Given the description of an element on the screen output the (x, y) to click on. 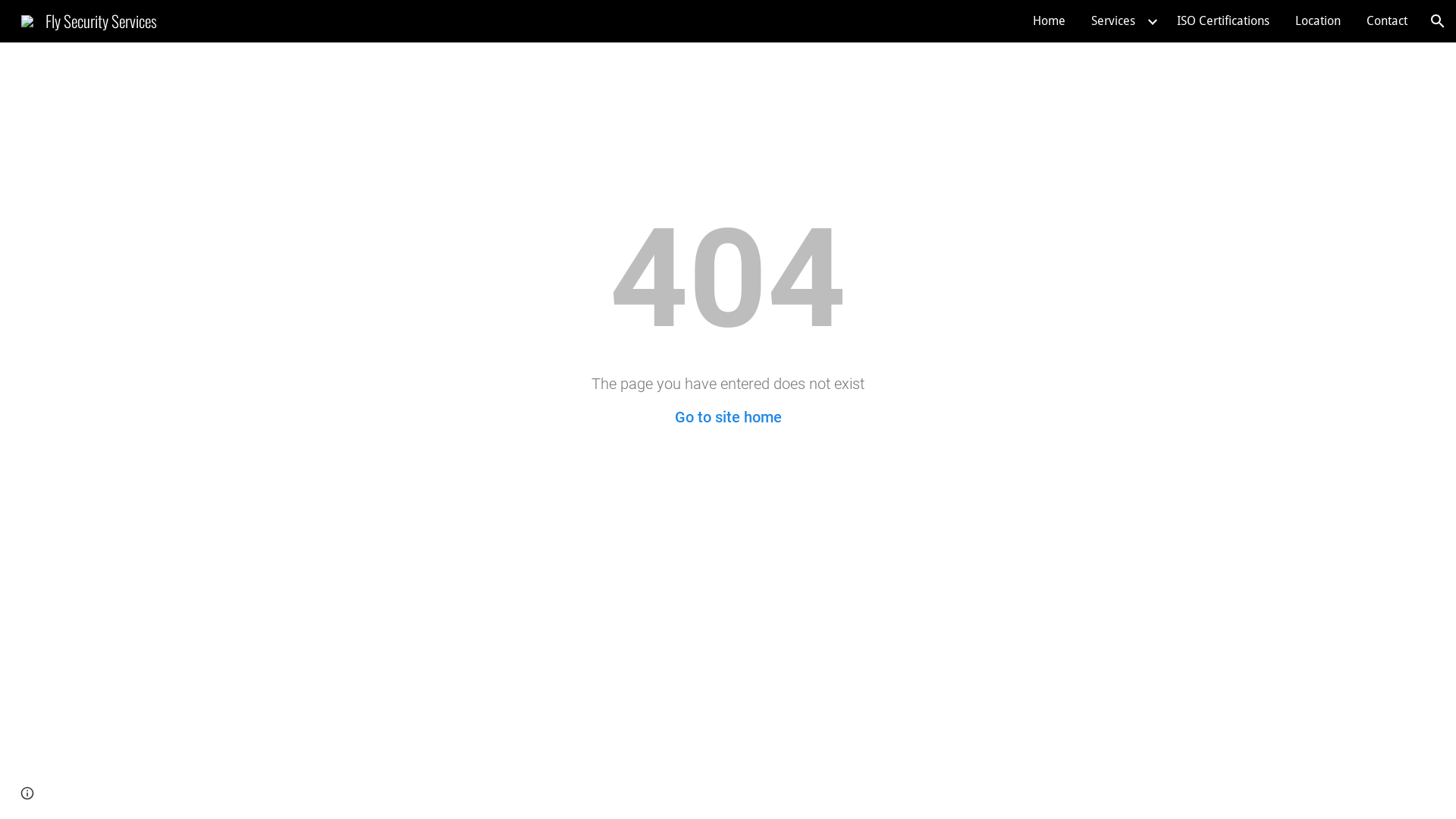
Location Element type: text (1317, 20)
ISO Certifications Element type: text (1223, 20)
Home Element type: text (1049, 20)
Expand/Collapse Element type: hover (1151, 20)
Go to site home Element type: text (727, 416)
Contact Element type: text (1386, 20)
Services Element type: text (1112, 20)
Fly Security Services Element type: text (89, 18)
